Given the description of an element on the screen output the (x, y) to click on. 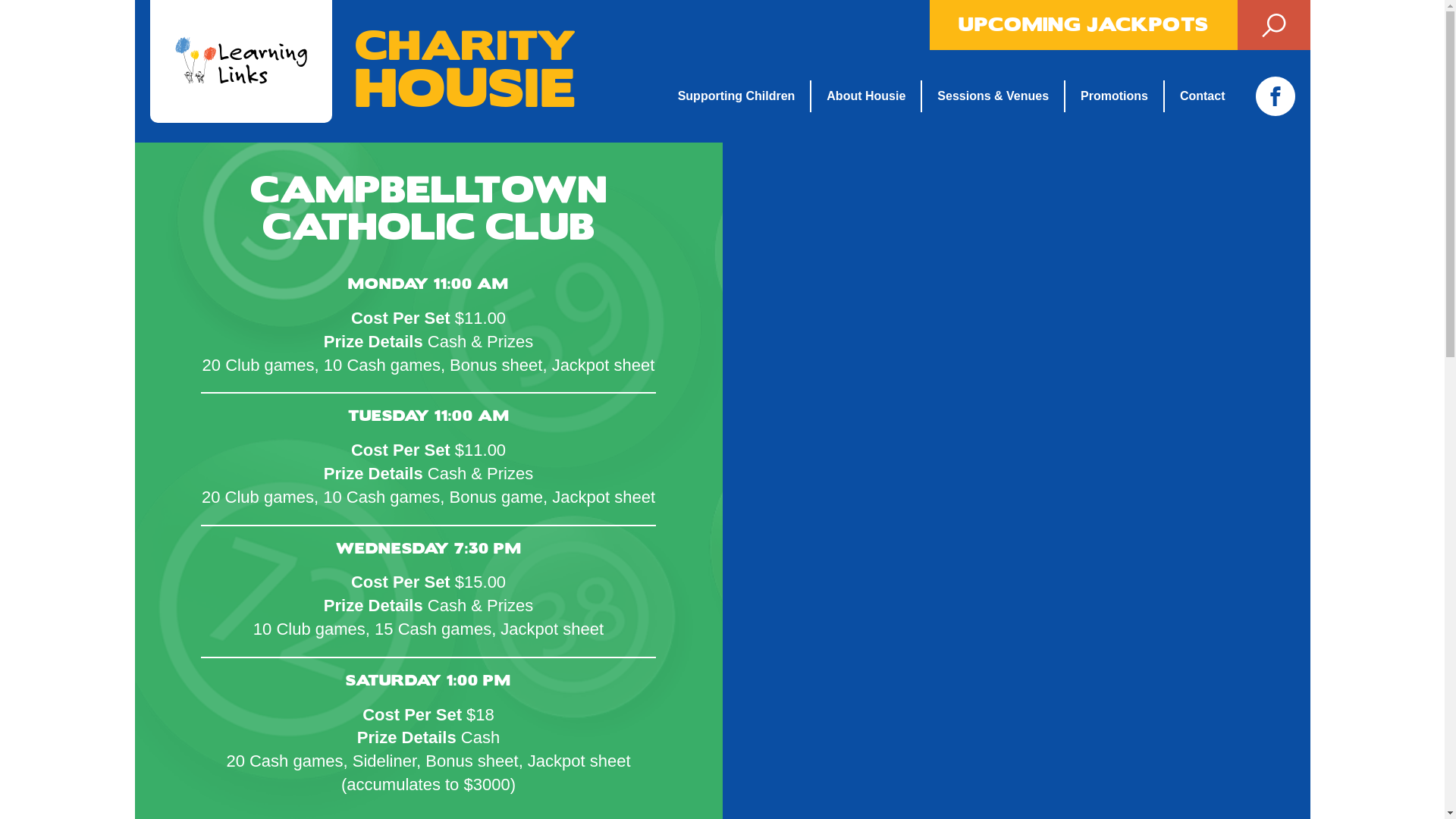
About Housie Element type: text (865, 96)
Facebook Element type: text (1275, 96)
UPCOMING JACKPOTS Element type: text (1083, 25)
Promotions Element type: text (1114, 96)
Supporting Children Element type: text (743, 96)
Contact Element type: text (1202, 96)
CHARITY
HOUSIE Element type: text (363, 71)
Sessions & Venues Element type: text (992, 96)
Search Element type: text (1273, 25)
